Given the description of an element on the screen output the (x, y) to click on. 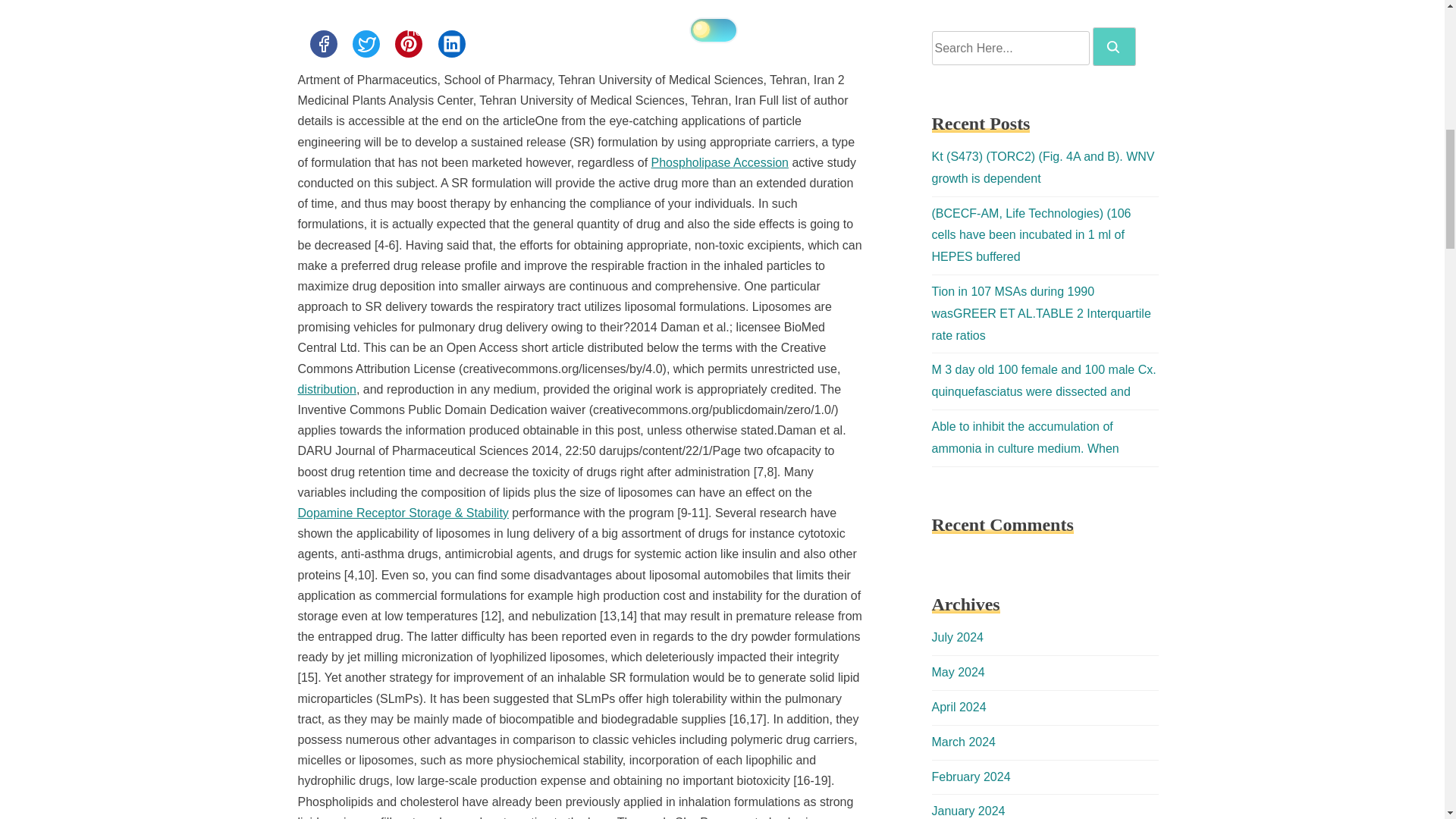
Search (1114, 46)
Share this post on Pinterest (408, 43)
Share this post on Linkedin (451, 43)
distribution (326, 389)
Share this post on Twitter (366, 43)
Search (1113, 46)
Phospholipase Accession (719, 162)
Share this post on Facebook (322, 43)
